Given the description of an element on the screen output the (x, y) to click on. 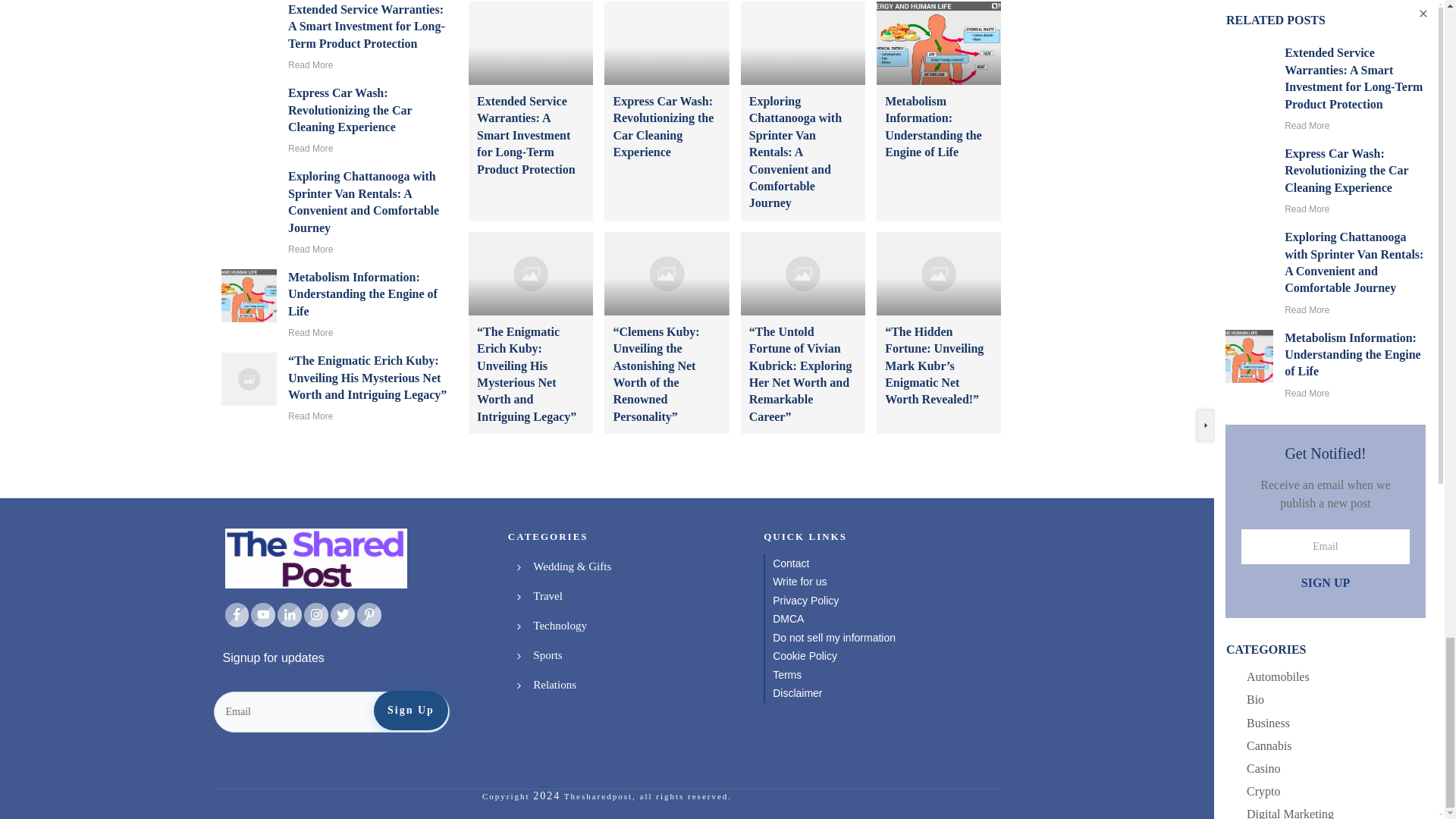
Metabolism Information: Understanding the Engine of Life (933, 126)
Metabolism Information: Understanding the Engine of Life (363, 294)
Metabolism Information: Understanding the Engine of Life (363, 294)
Read More (310, 64)
Read More (310, 332)
Read More (310, 249)
Read More (310, 148)
